Given the description of an element on the screen output the (x, y) to click on. 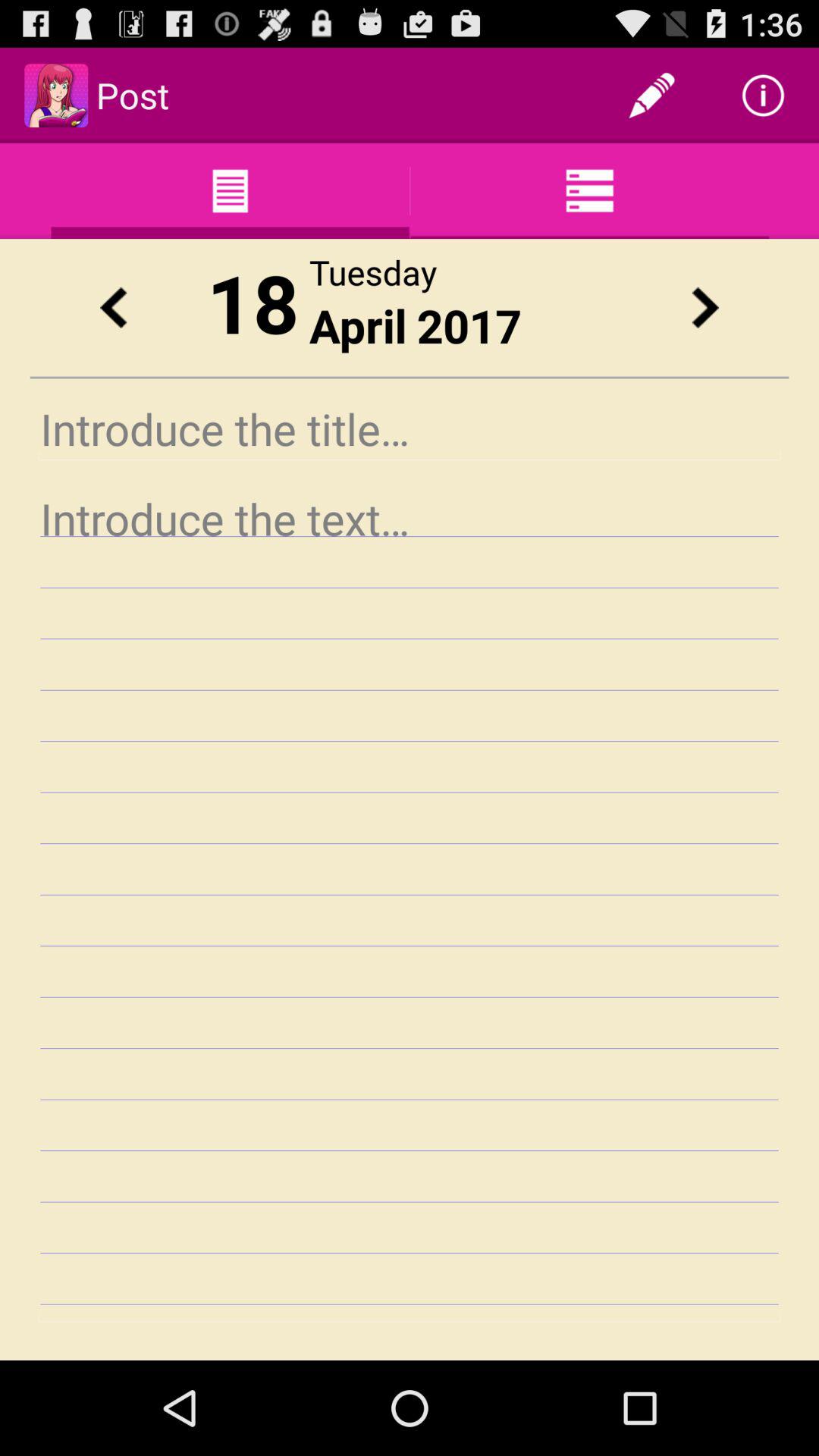
go back (113, 307)
